Given the description of an element on the screen output the (x, y) to click on. 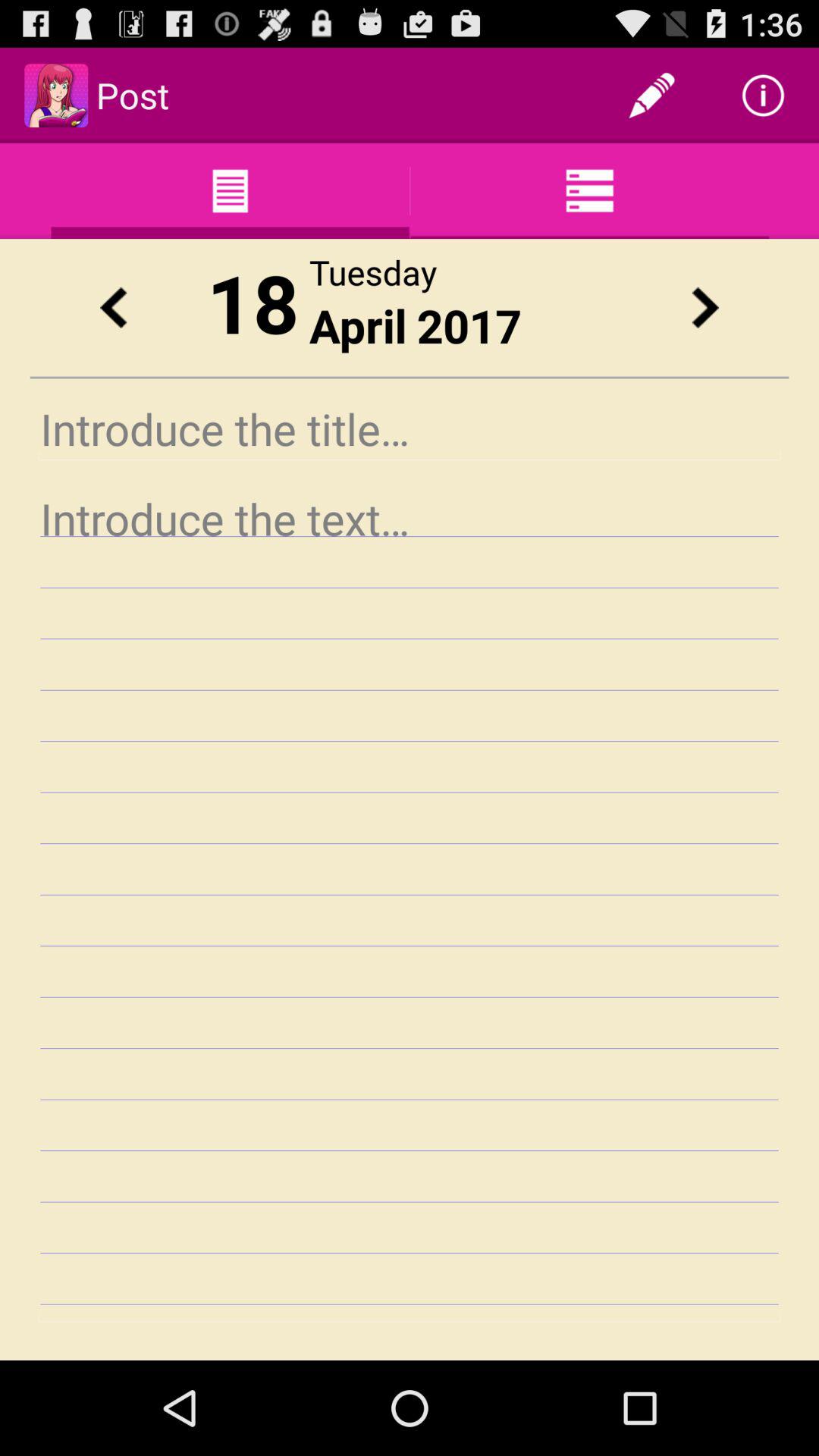
go back (113, 307)
